Given the description of an element on the screen output the (x, y) to click on. 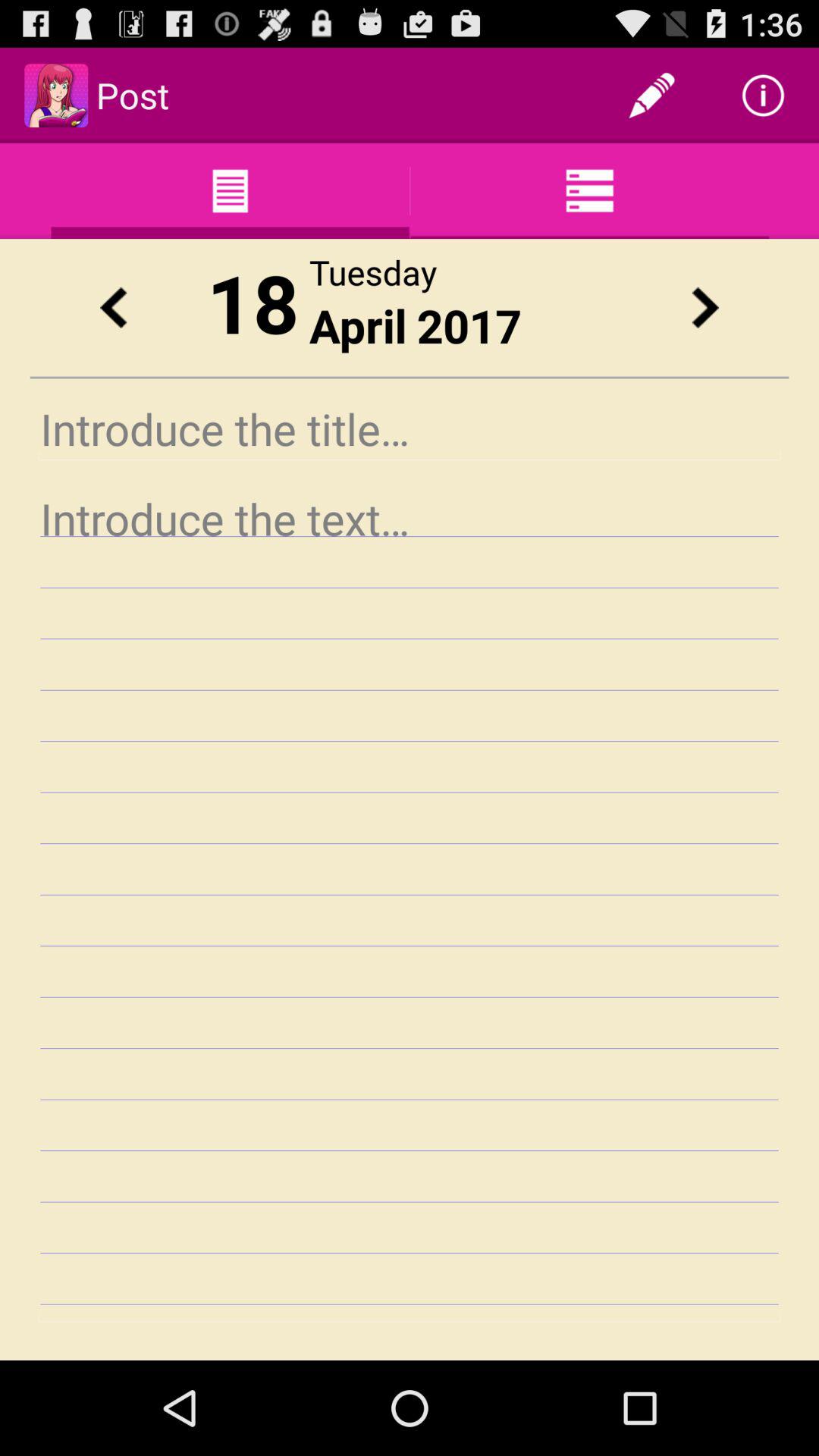
go back (113, 307)
